Given the description of an element on the screen output the (x, y) to click on. 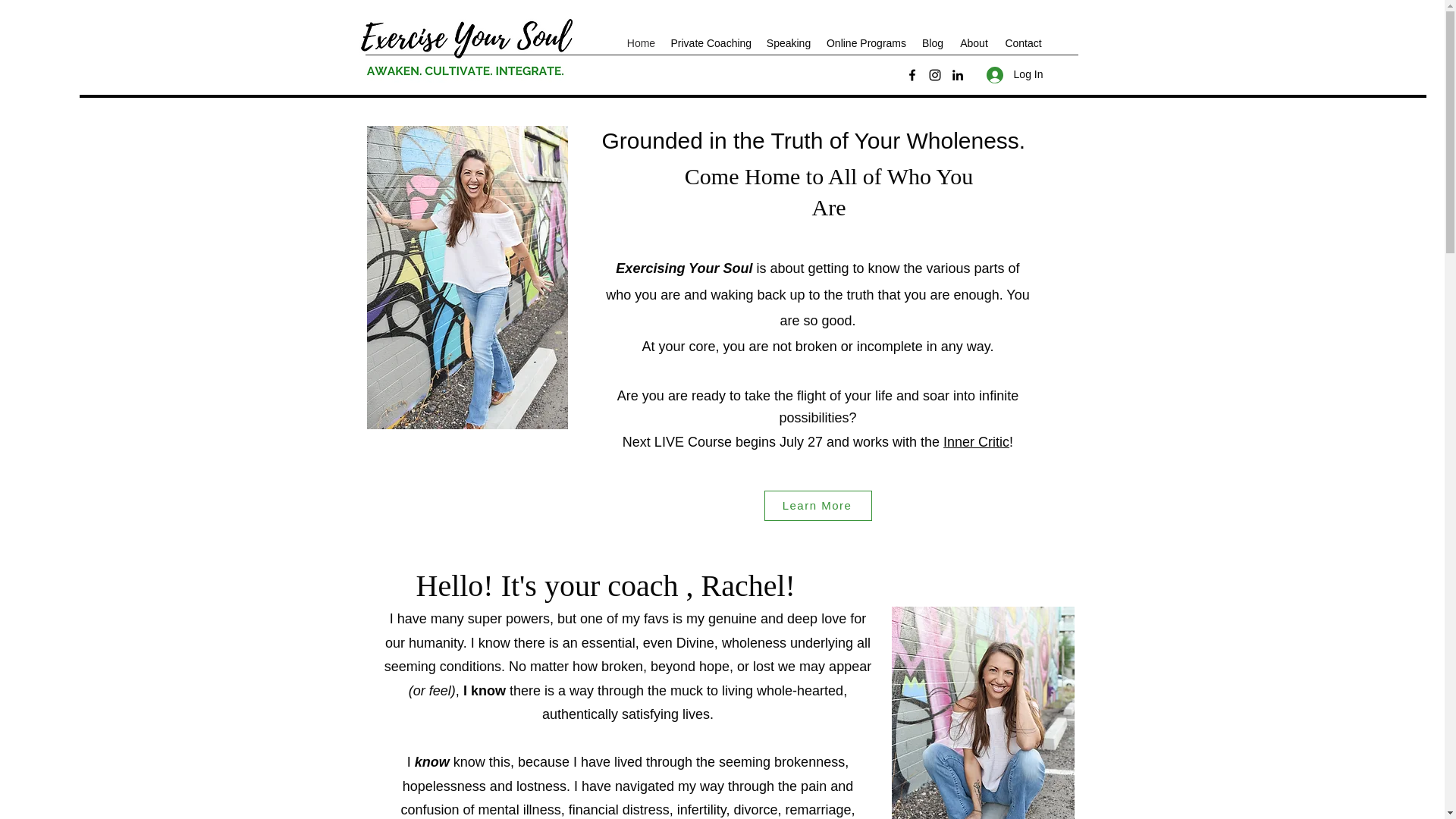
Speaking (788, 42)
Private Coaching (710, 42)
Inner Critic (976, 441)
Learn More (818, 505)
Log In (1014, 74)
Contact (1022, 42)
About (972, 42)
Home (640, 42)
Blog (933, 42)
Online Programs (866, 42)
